Given the description of an element on the screen output the (x, y) to click on. 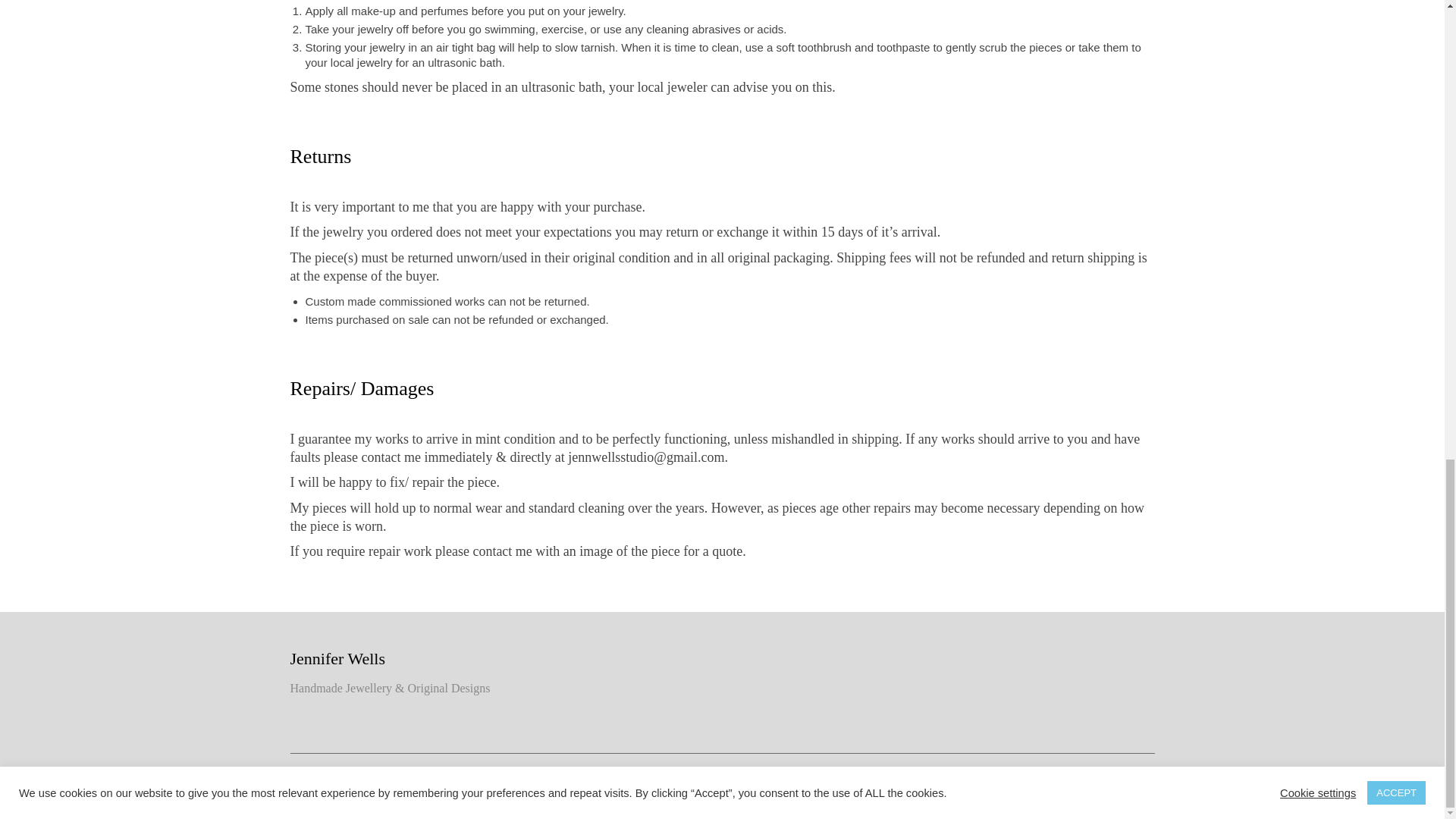
Instagram (949, 784)
Facebook (1013, 784)
Pinterest (1074, 784)
LinkedIn (1133, 784)
